Given the description of an element on the screen output the (x, y) to click on. 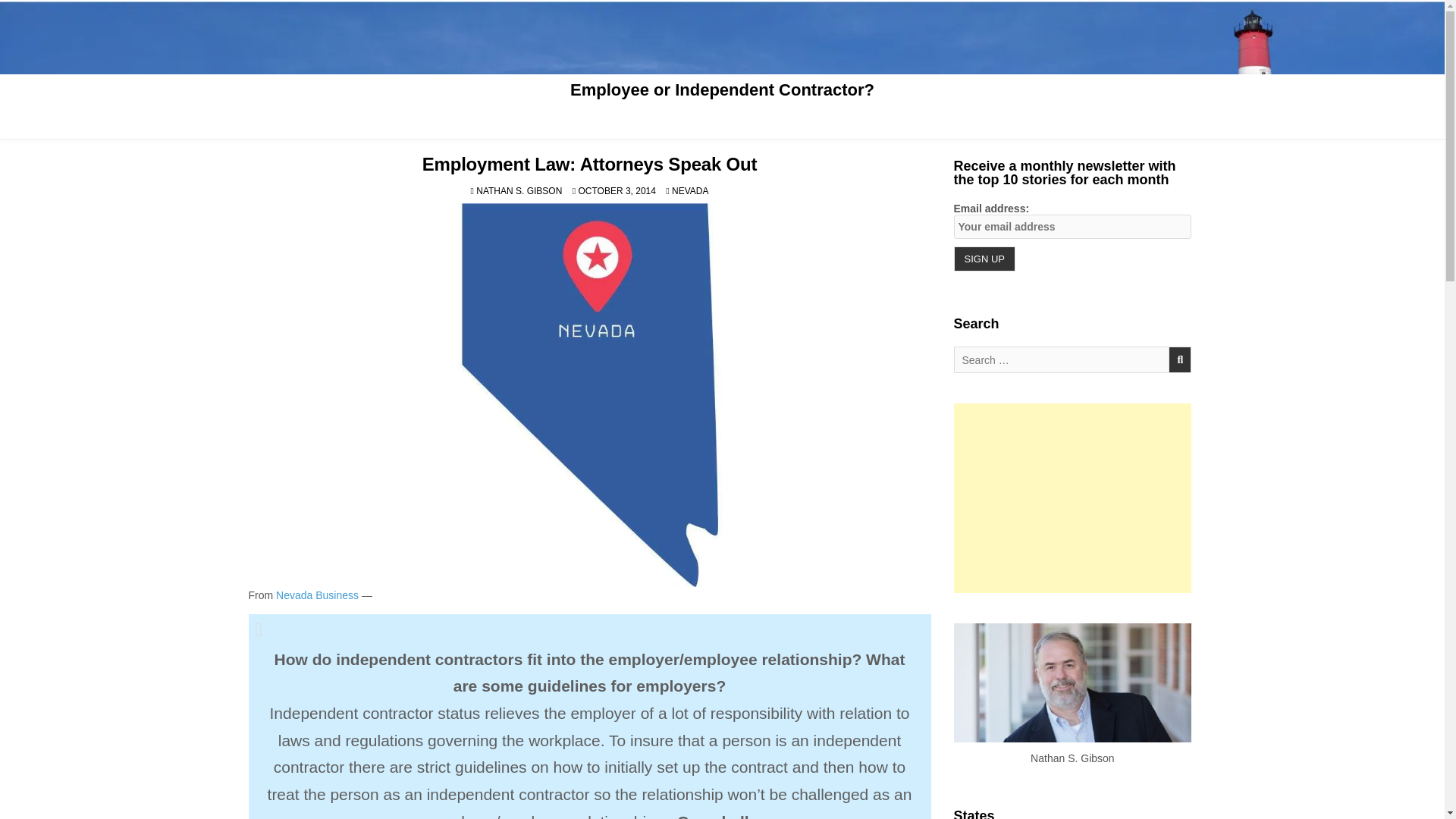
Employment Law: Attorneys Speak Out (589, 163)
Advertisement (1072, 497)
NATHAN S. GIBSON (519, 190)
Sign up (983, 258)
Employee or Independent Contractor? (722, 89)
NEVADA (689, 190)
Nevada Business (317, 594)
Sign up (983, 258)
